Given the description of an element on the screen output the (x, y) to click on. 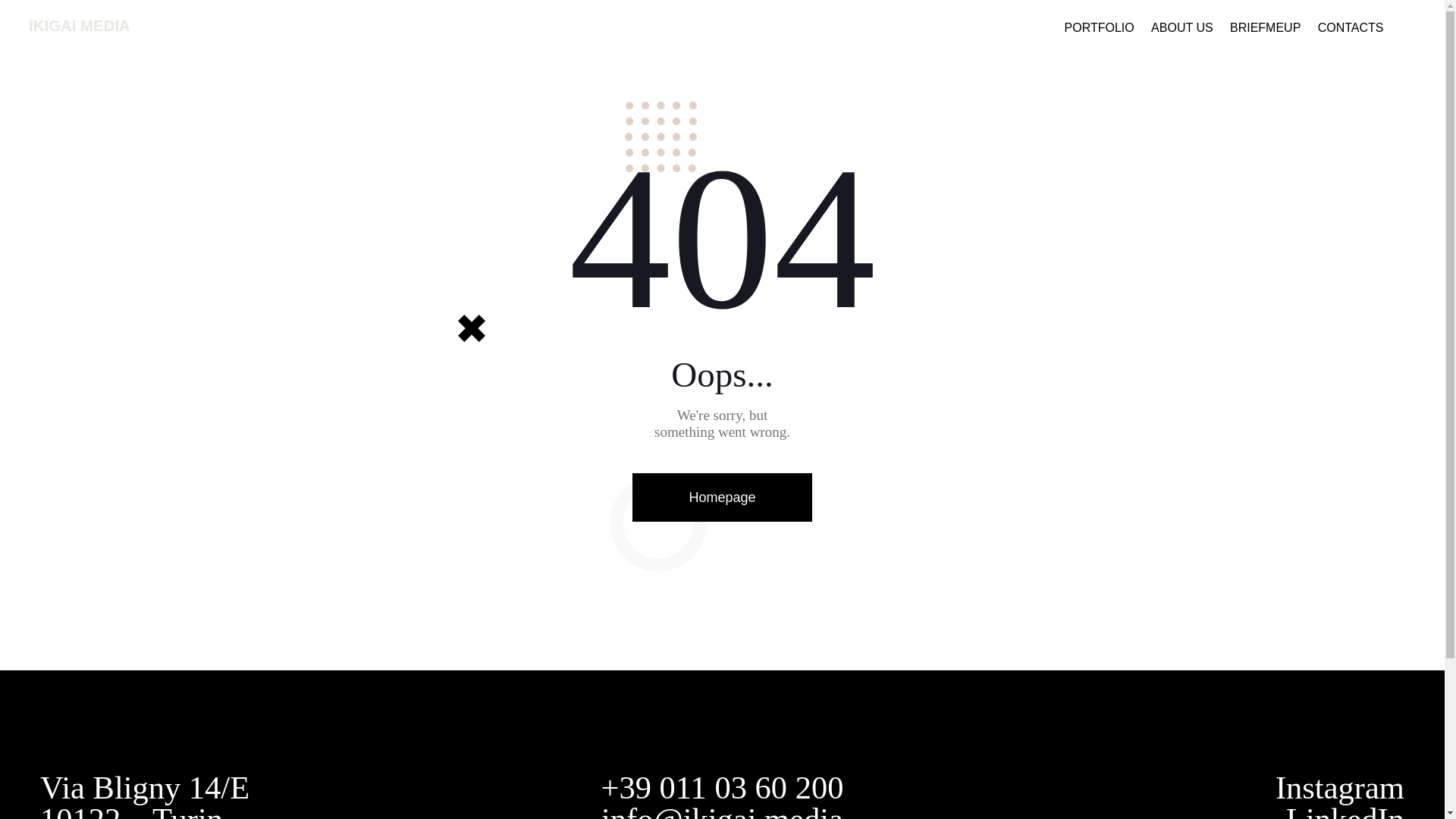
BRIEFMEUP (1264, 28)
ABOUT US (1181, 28)
Homepage (720, 497)
LinkedIn (1345, 810)
Instagram (1340, 787)
IKIGAI MEDIA (80, 26)
CONTACTS (1349, 28)
PORTFOLIO (1098, 28)
